Given the description of an element on the screen output the (x, y) to click on. 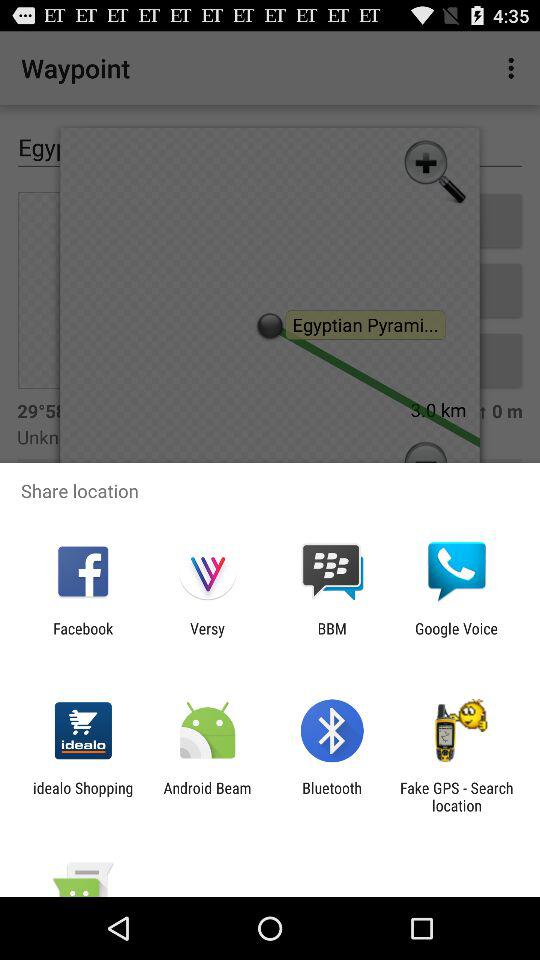
select the app next to bluetooth app (456, 796)
